Given the description of an element on the screen output the (x, y) to click on. 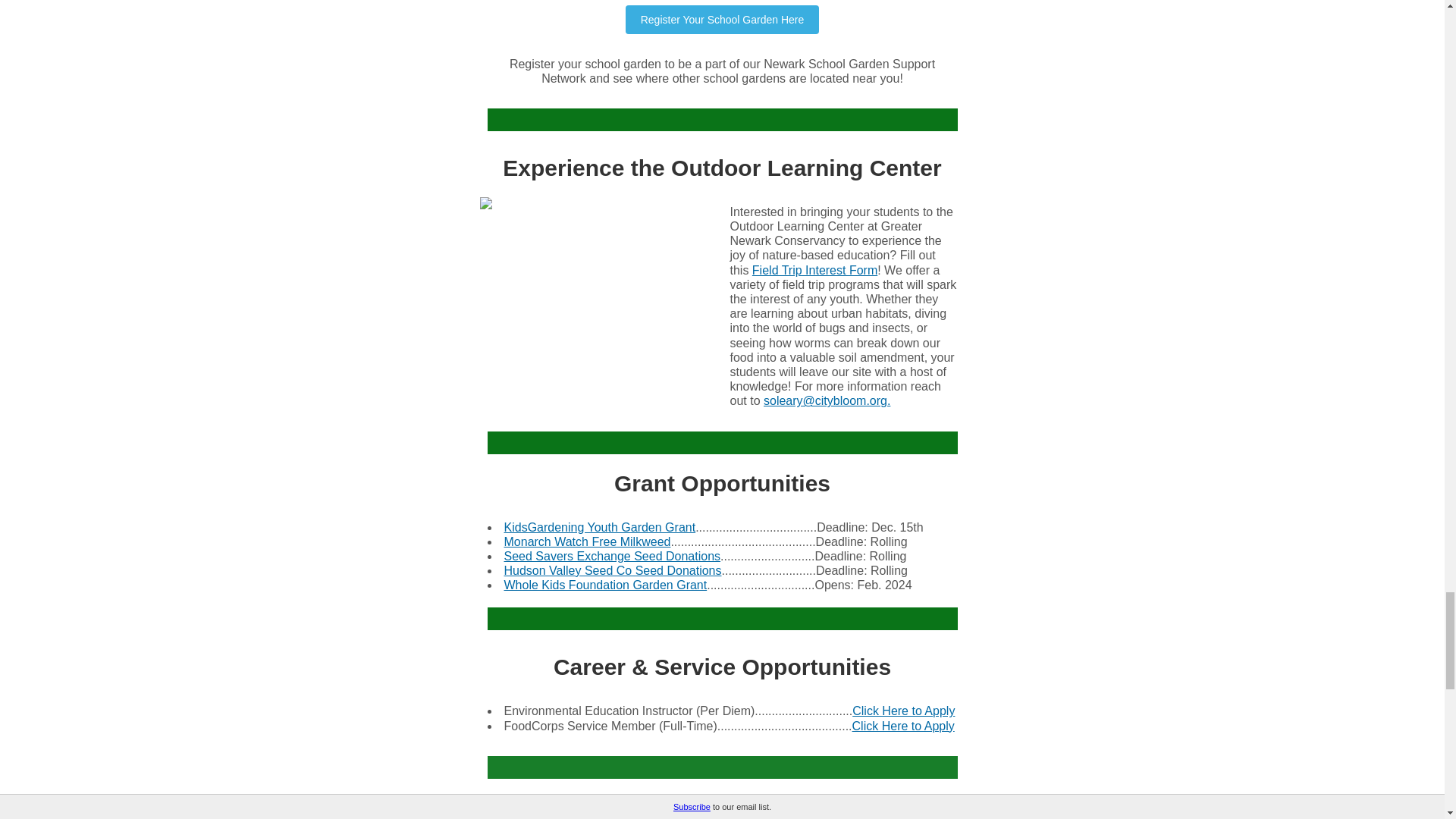
Register Your School Garden Here (722, 18)
Monarch Watch Free Milkweed (586, 541)
Seed Savers Exchange Seed Donations (611, 555)
Click Here to Apply (903, 725)
Click Here to Apply (903, 710)
Whole Kids Foundation Garden Grant (604, 584)
Field Trip Interest Form (814, 269)
Hudson Valley Seed Co Seed Donations (611, 570)
KidsGardening Youth Garden Grant (599, 526)
